Given the description of an element on the screen output the (x, y) to click on. 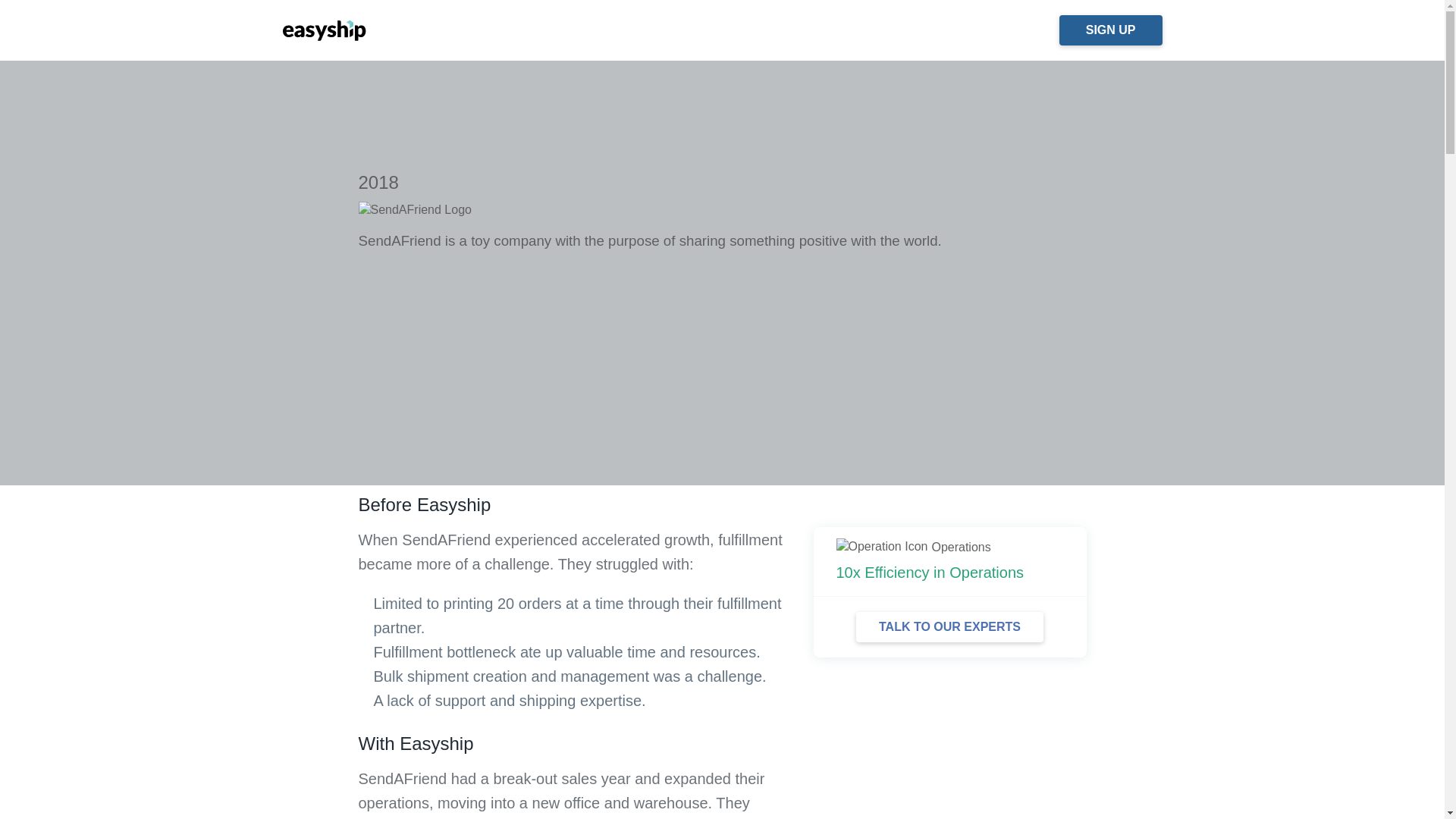
TALK TO OUR EXPERTS (949, 626)
SIGN UP (1110, 30)
